Given the description of an element on the screen output the (x, y) to click on. 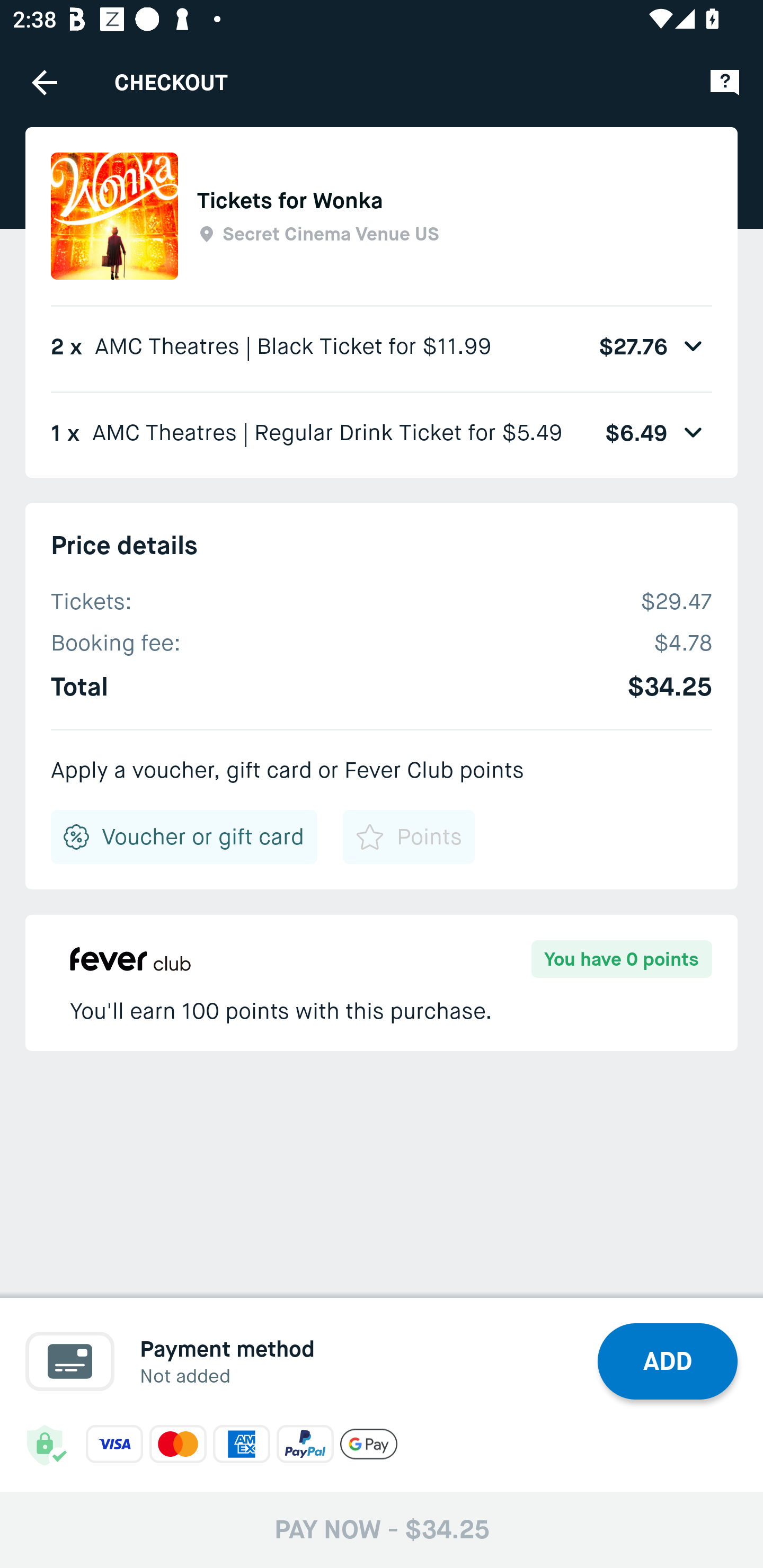
Navigate up (44, 82)
Help (724, 81)
Voucher or gift card (184, 836)
Points (408, 836)
ADD (667, 1361)
PAY NOW - $34.25 (381, 1529)
